Given the description of an element on the screen output the (x, y) to click on. 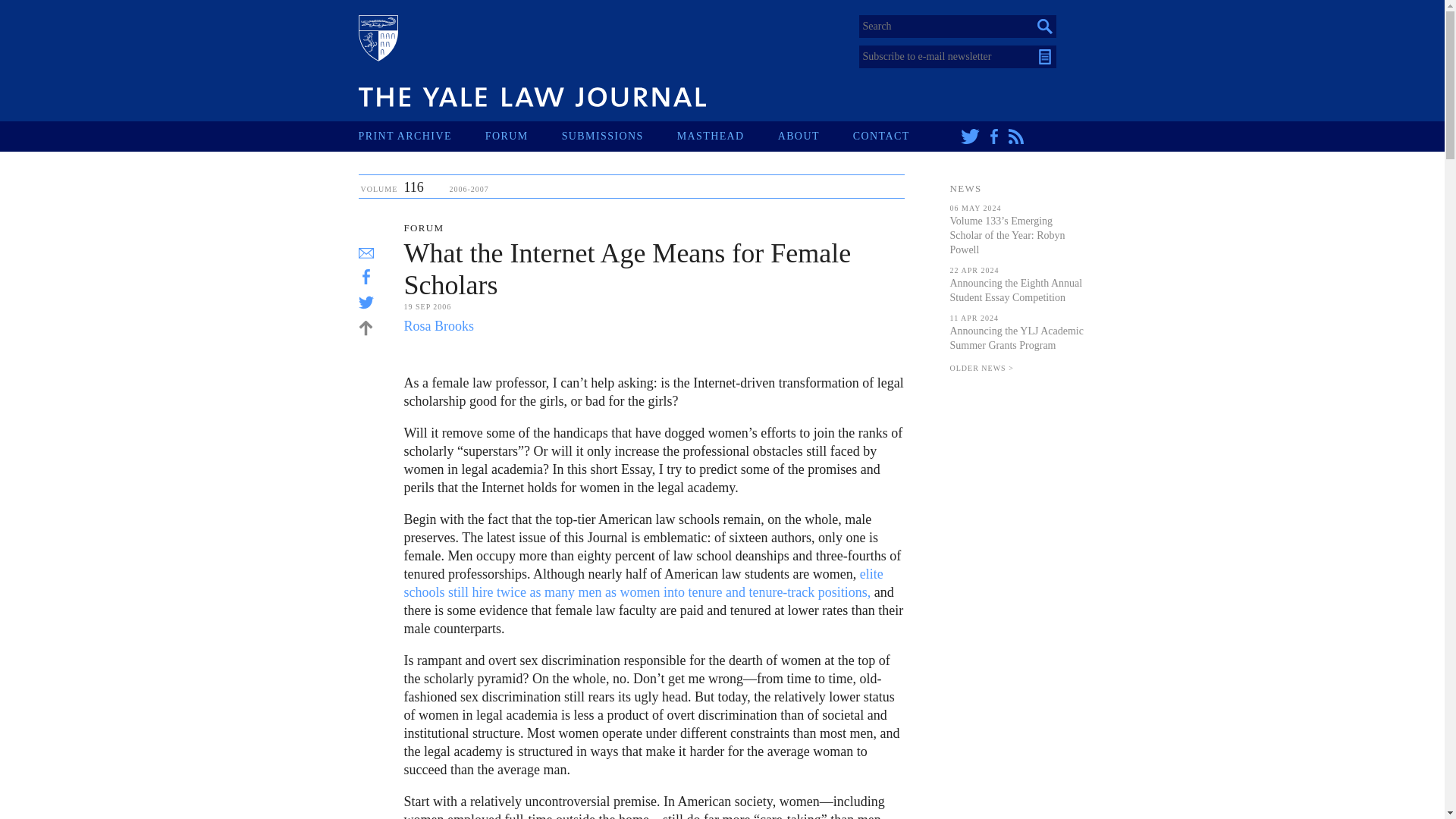
Rosa Brooks (438, 325)
Announcing the YLJ Academic Summer Grants Program (1016, 338)
CONTACT (898, 136)
MASTHEAD (727, 136)
NEWS (965, 188)
PRINT ARCHIVE (421, 136)
Announcing the Eighth Annual Student Essay Competition (1015, 290)
FORUM (523, 136)
ABOUT (815, 136)
SUBMISSIONS (619, 136)
